Given the description of an element on the screen output the (x, y) to click on. 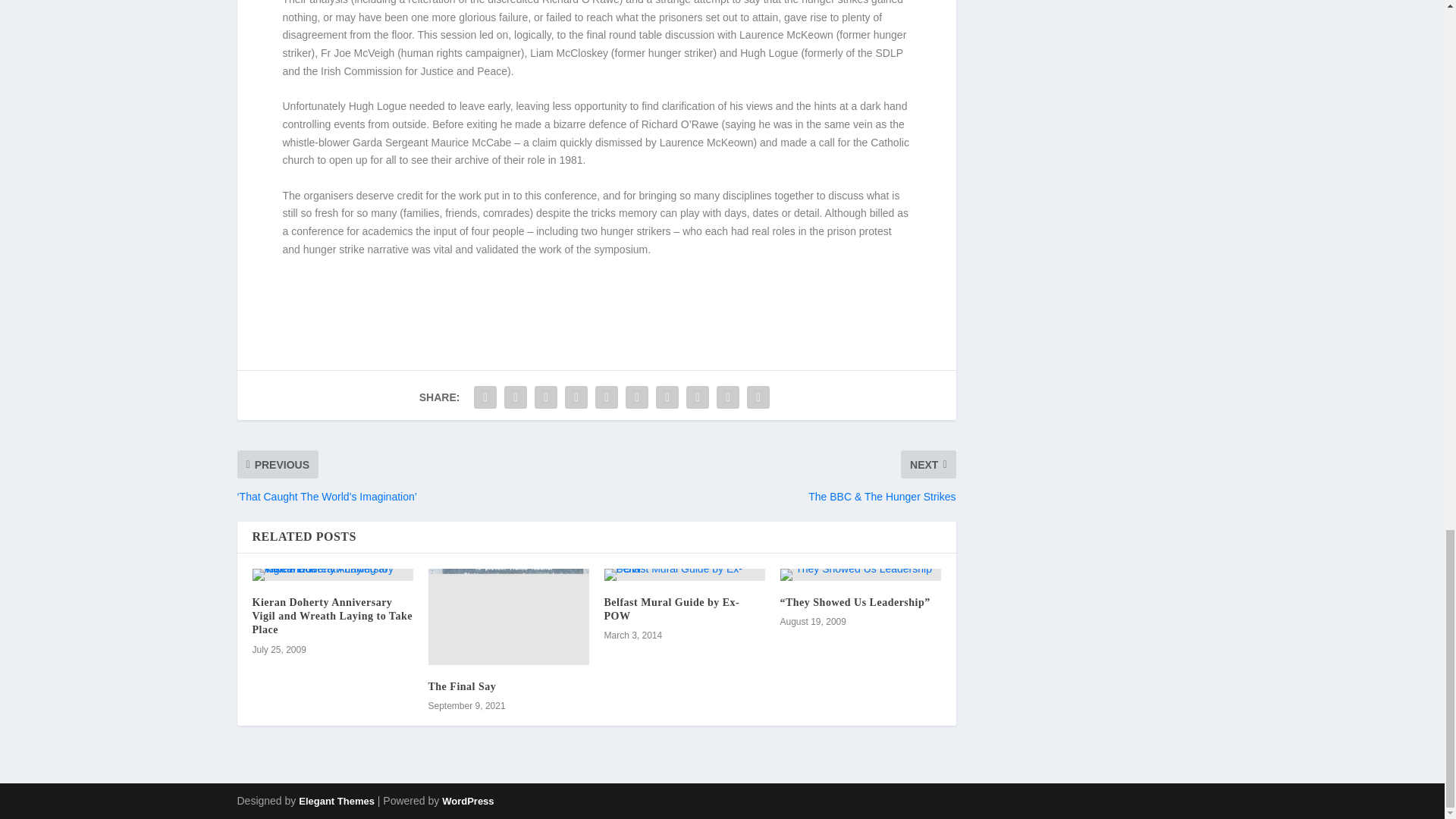
Premium WordPress Themes (336, 800)
Belfast Mural Guide by Ex-POW (684, 574)
The Final Say (508, 616)
